Given the description of an element on the screen output the (x, y) to click on. 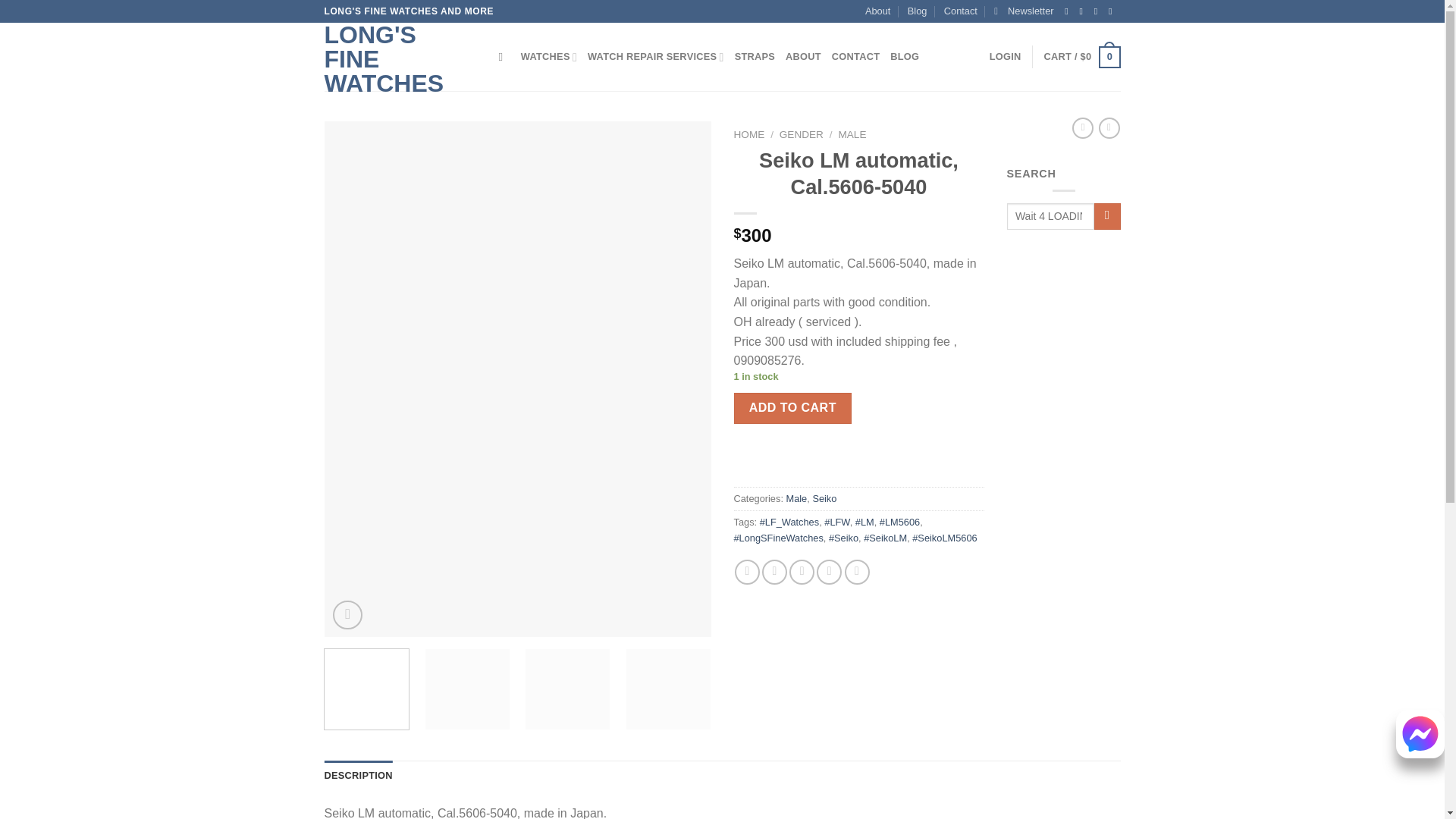
Cart (1082, 57)
BLOG (903, 56)
Sign up for Newsletter (1023, 11)
ABOUT (803, 56)
LONG'S FINE WATCHES (400, 58)
About (876, 11)
Contact (959, 11)
Newsletter (1023, 11)
WATCH REPAIR SERVICES (655, 56)
